Given the description of an element on the screen output the (x, y) to click on. 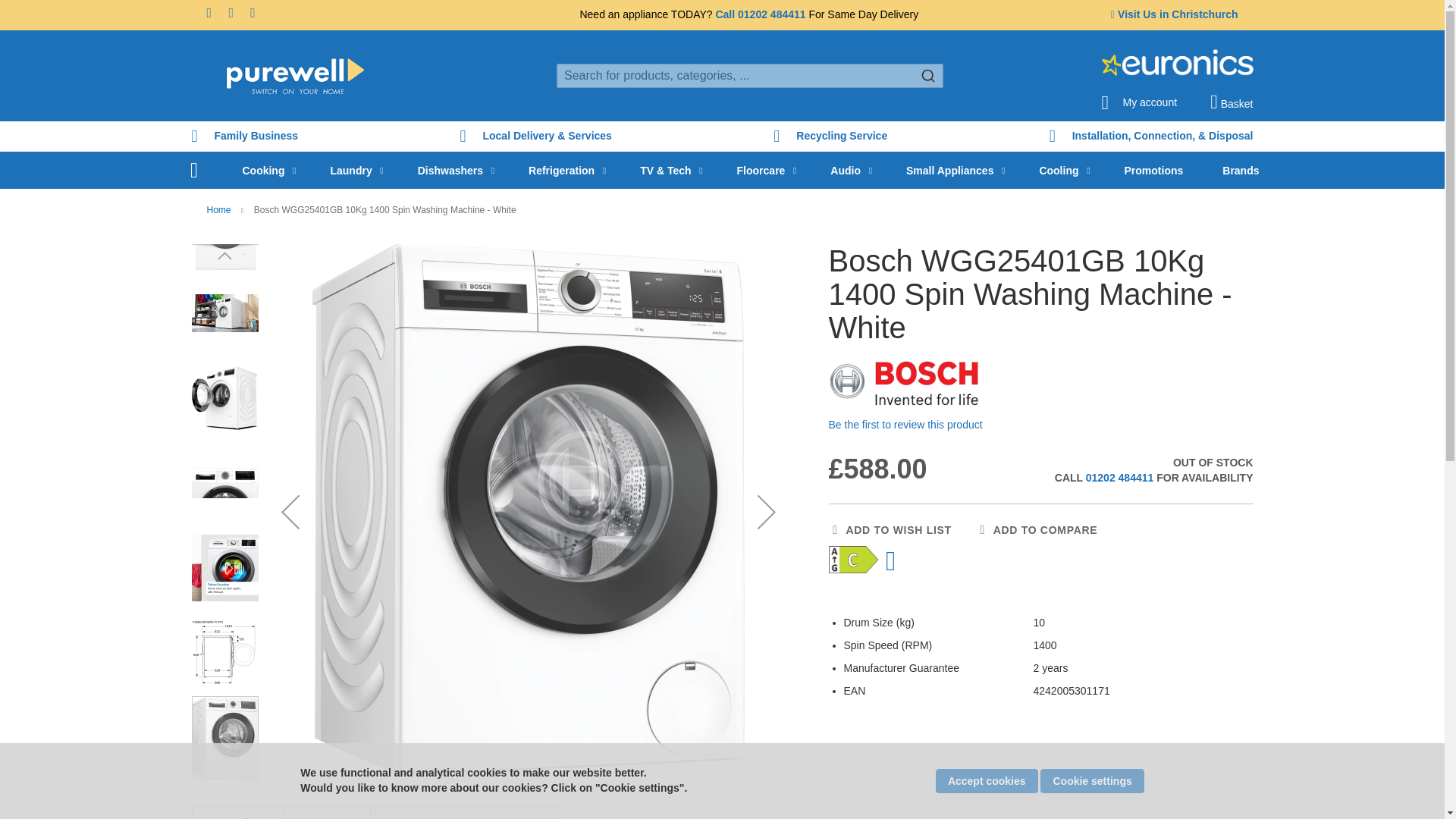
Availability (1135, 470)
Recycling Service (829, 136)
Family Business (244, 136)
Basket (1230, 102)
Home (193, 170)
For more on Bosch, click here. (903, 383)
Purewell Electrical logo. (293, 75)
Go to Home Page (219, 209)
Submit (927, 74)
Call 01202 484411 (759, 14)
My account (1138, 98)
Visit Us in Christchurch (1173, 14)
Cooking (265, 170)
EU Datasheet (892, 561)
